Given the description of an element on the screen output the (x, y) to click on. 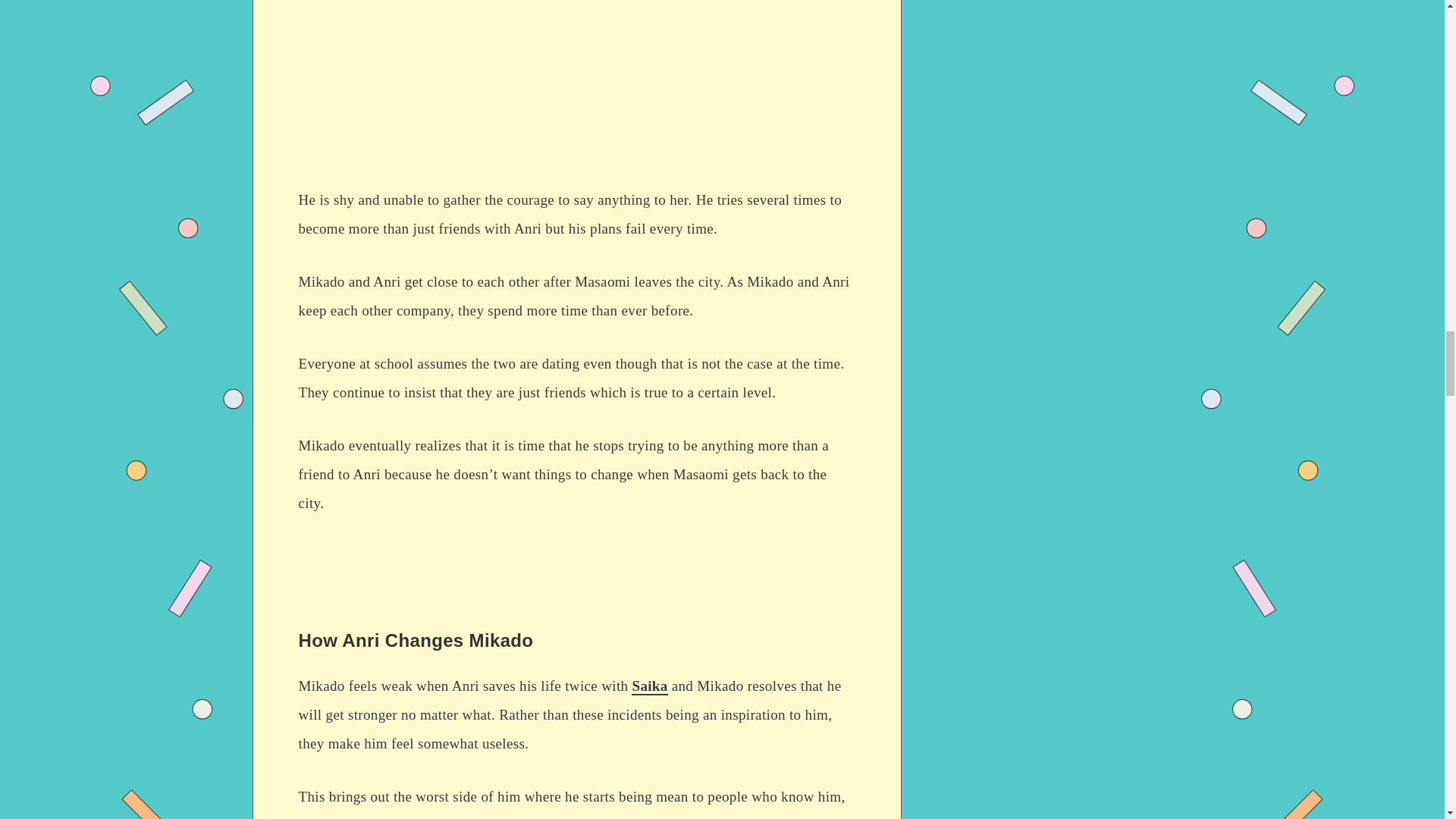
Saika (648, 686)
